Given the description of an element on the screen output the (x, y) to click on. 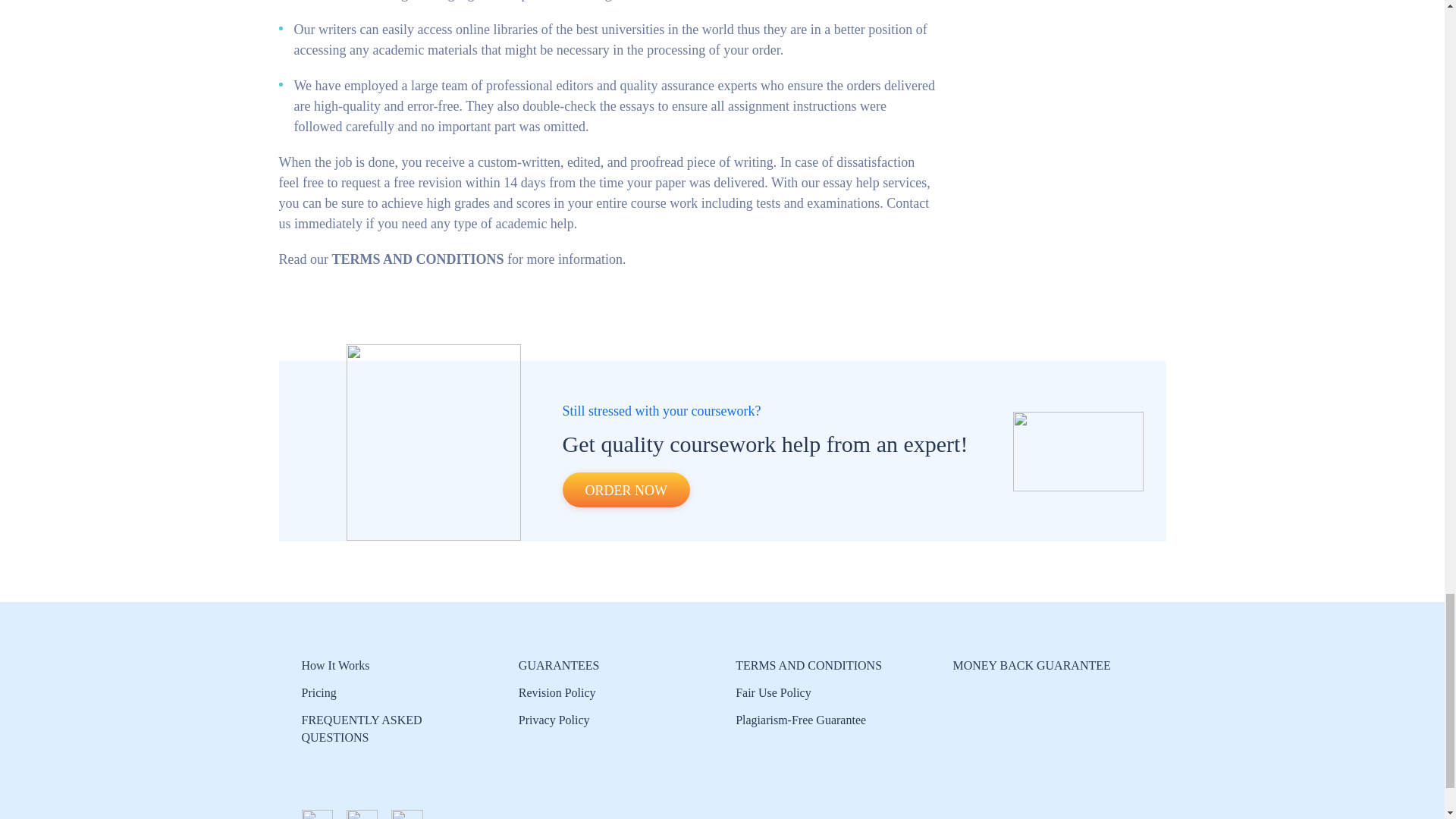
Revision Policy (556, 692)
How It Works (335, 665)
Privacy Policy  (555, 719)
FREQUENTLY ASKED QUESTIONS (361, 728)
Plagiarism-Free Guarantee (800, 719)
MONEY BACK GUARANTEE (1030, 665)
GUARANTEES (558, 665)
Pricing (318, 692)
TERMS AND CONDITIONS (808, 665)
ORDER NOW (626, 489)
Fair Use Policy (772, 692)
